Given the description of an element on the screen output the (x, y) to click on. 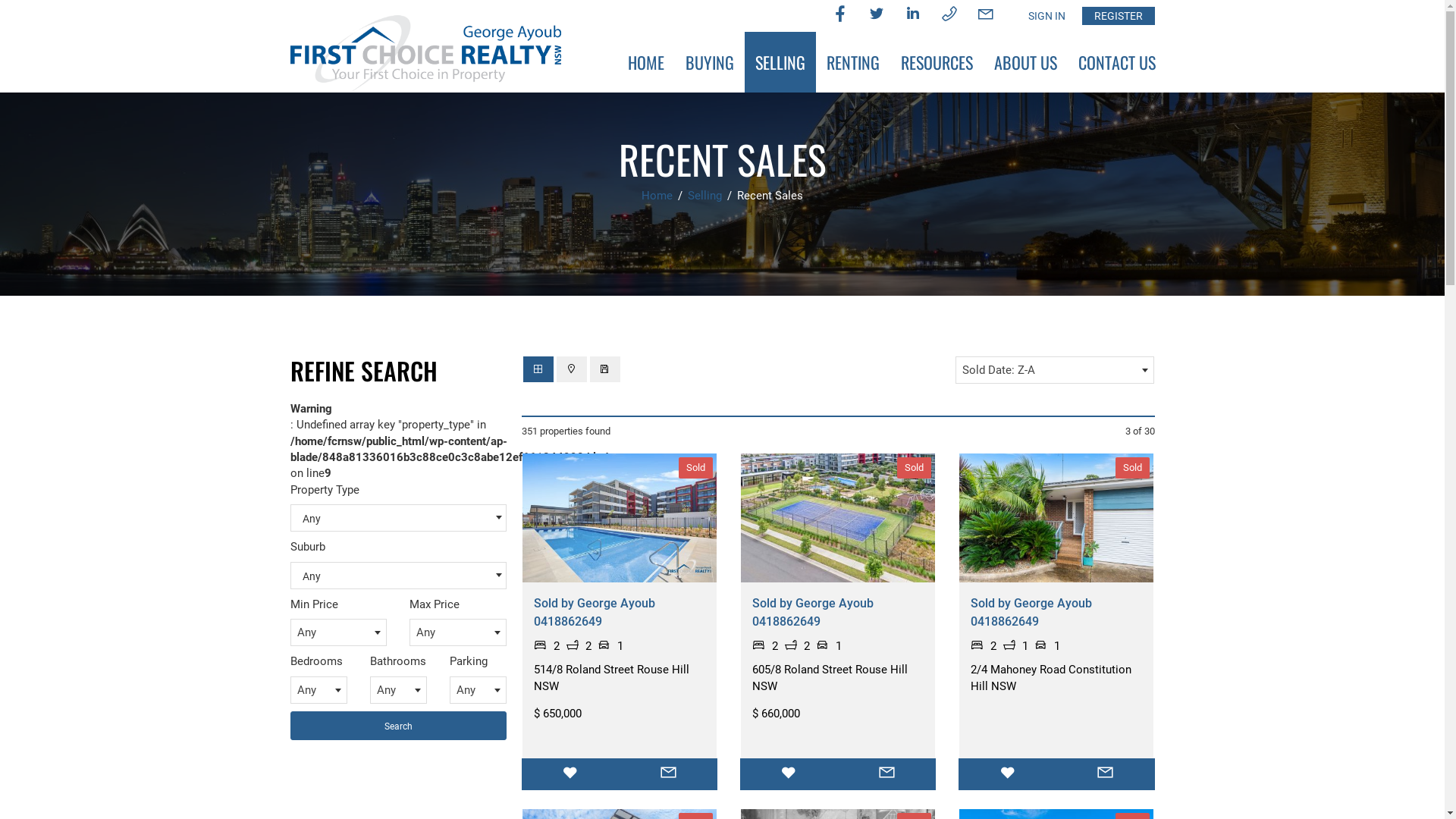
Home Element type: text (658, 195)
REGISTER Element type: text (1117, 15)
RENTING Element type: text (852, 61)
SELLING Element type: text (779, 61)
Sold by George Ayoub 0418862649 Element type: text (812, 612)
SIGN IN Element type: text (1046, 15)
Add Favourites Element type: hover (1007, 773)
Sold by George Ayoub 0418862649 Element type: text (594, 612)
Contact Agent Element type: hover (668, 773)
Sold Element type: text (837, 517)
Add Favourites Element type: hover (569, 773)
Sold Element type: text (1056, 517)
ABOUT US Element type: text (1024, 61)
Contact Agent Element type: hover (886, 773)
HOME Element type: text (645, 61)
Contact Agent Element type: hover (1105, 773)
Add Favourites Element type: hover (788, 773)
Selling Element type: text (705, 195)
Search Element type: text (397, 725)
Sold by George Ayoub 0418862649 Element type: text (1031, 612)
Sold Element type: text (618, 517)
Gallery View Element type: hover (538, 369)
RESOURCES Element type: text (936, 61)
Map View Element type: hover (571, 369)
CONTACT US Element type: text (1116, 61)
BUYING Element type: text (709, 61)
Save Search Element type: hover (604, 369)
